Given the description of an element on the screen output the (x, y) to click on. 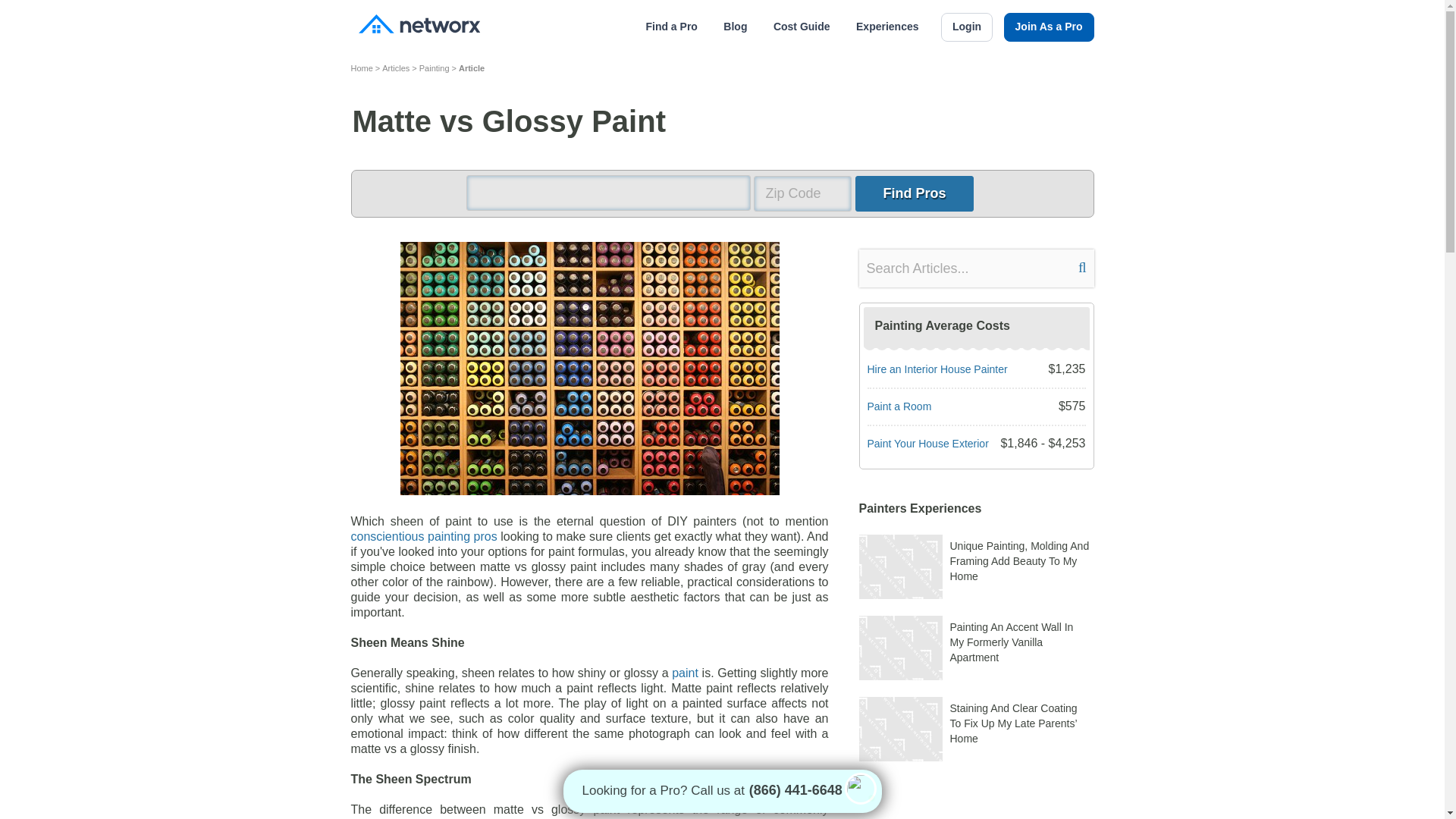
Networx (418, 25)
What type of pro are you looking for? (607, 192)
Find Pros (914, 193)
Please enter a valid zip code (802, 193)
Join As a Pro (1049, 27)
Experiences (887, 26)
Painting (434, 67)
Home (361, 67)
Login (966, 27)
Articles (395, 67)
